Given the description of an element on the screen output the (x, y) to click on. 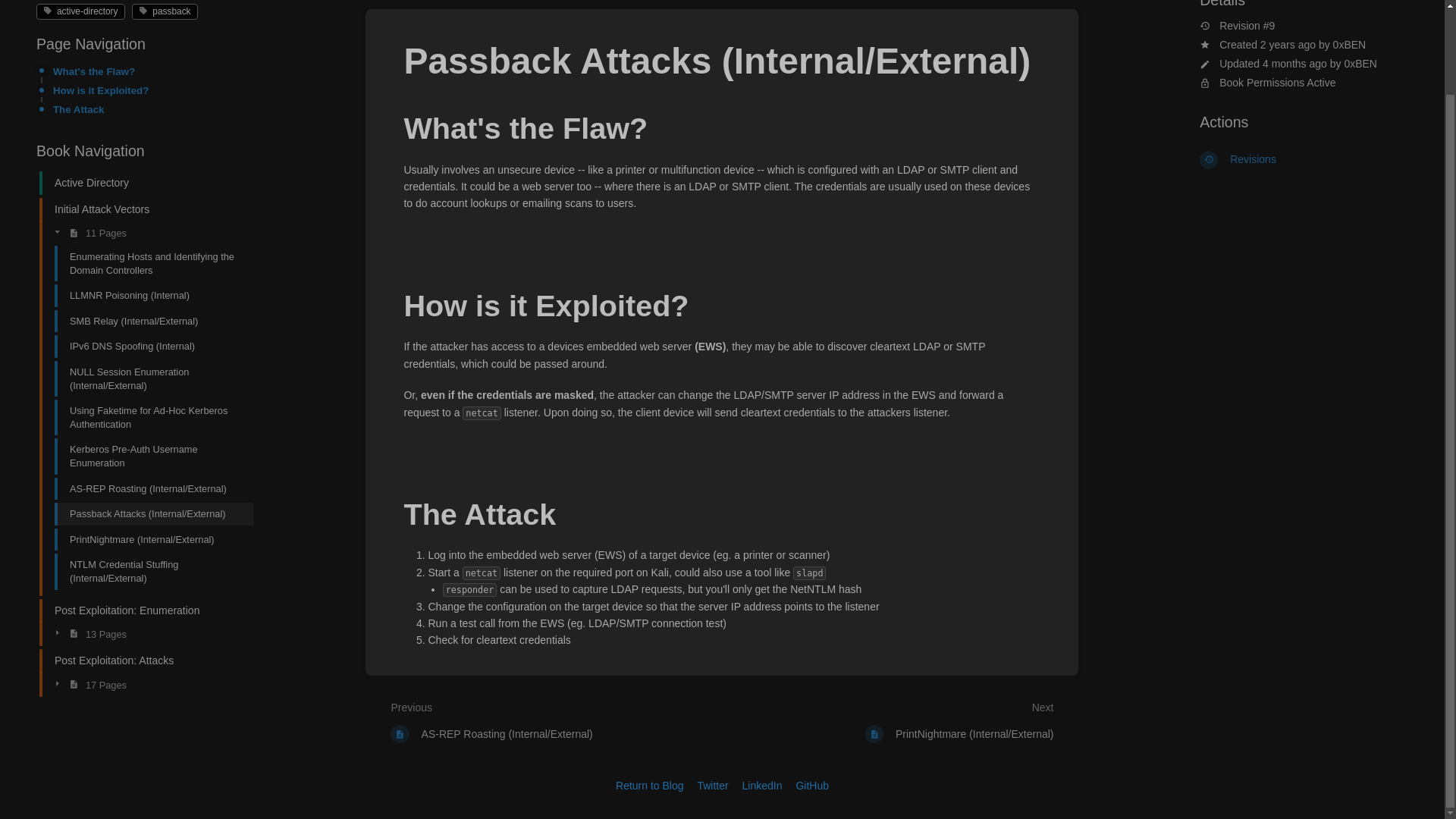
13 Pages (147, 633)
11 Pages (147, 232)
0xBEN (1360, 63)
Mon, Mar 11, 2024 8:54 PM (1294, 63)
How is it Exploited? (148, 90)
0xBEN (1350, 44)
Sat, Mar 12, 2022 4:50 PM (1288, 44)
Revisions (1304, 159)
Active Directory (140, 182)
The Attack (148, 109)
Post Exploitation: Enumeration (140, 610)
active-directory (80, 11)
Enumerating Hosts and Identifying the Domain Controllers (147, 263)
Using Faketime for Ad-Hoc Kerberos Authentication (147, 417)
Initial Attack Vectors (140, 209)
